Given the description of an element on the screen output the (x, y) to click on. 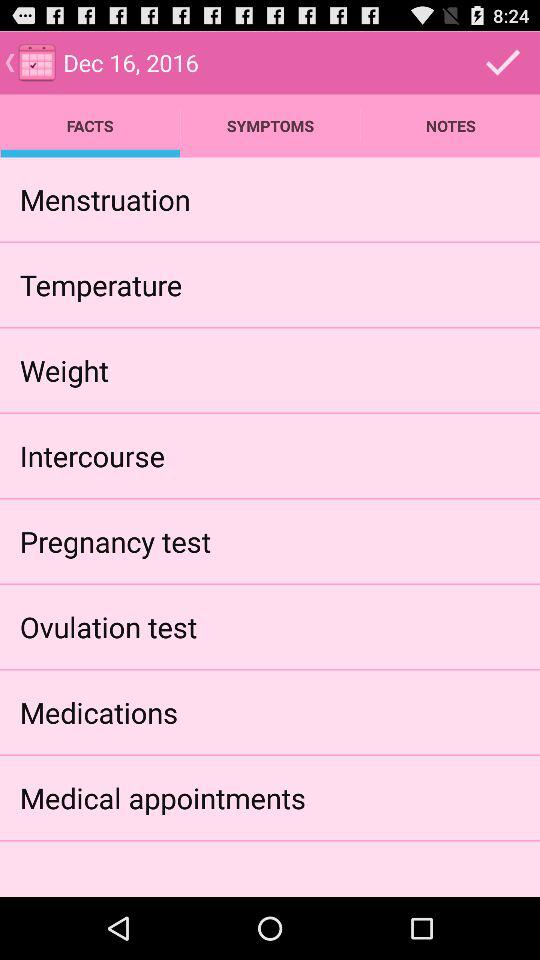
jump to intercourse app (91, 455)
